Given the description of an element on the screen output the (x, y) to click on. 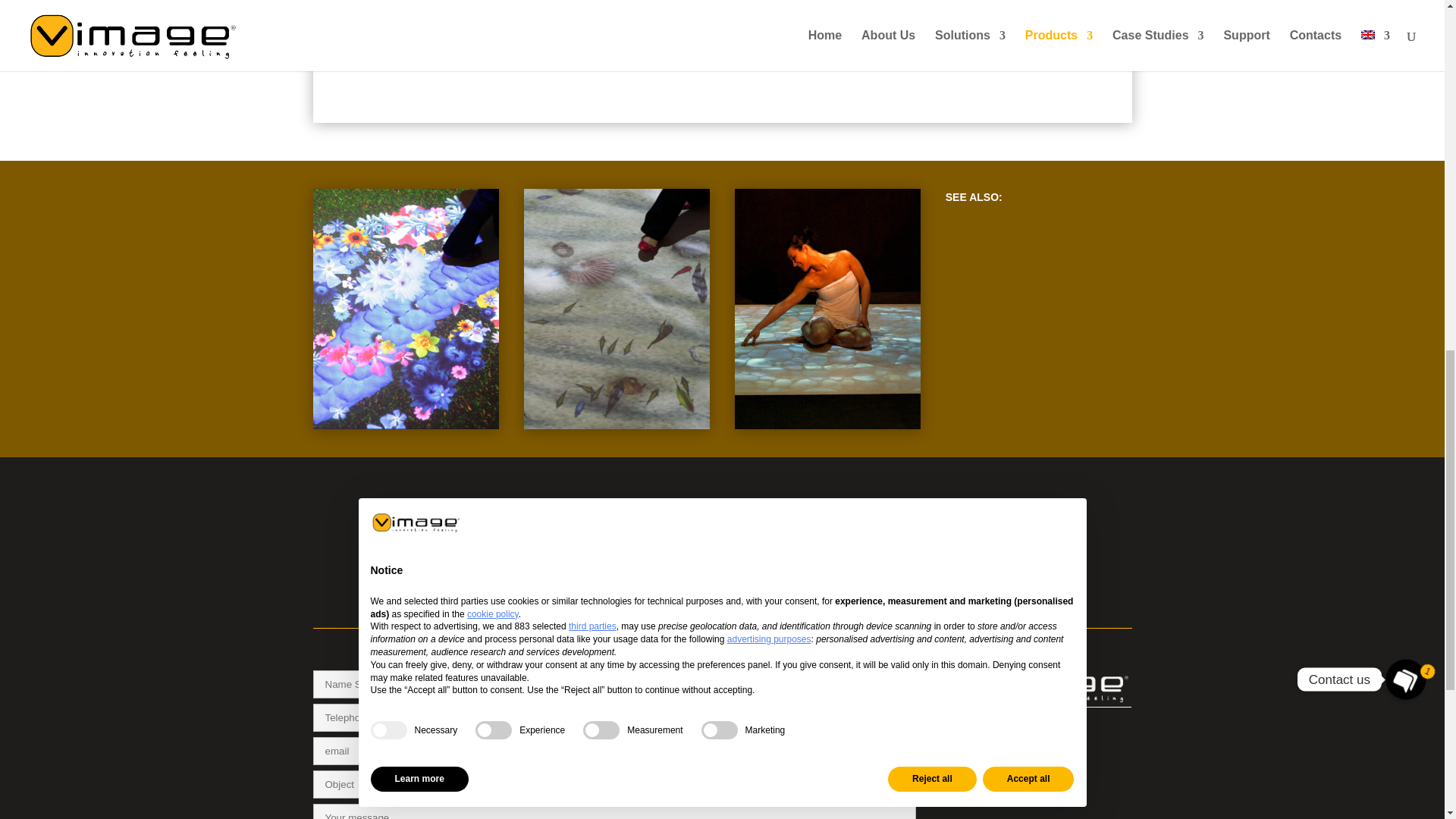
Pavimento Interattivo-NCP-4 (406, 425)
Pavimento Interattivo-NCF-1 (617, 425)
Pavimento Interattivo by Vimage (975, 54)
Pavimento Interattivo-NCF-3 (828, 425)
Logo-Vimage-Neg (1045, 683)
